Given the description of an element on the screen output the (x, y) to click on. 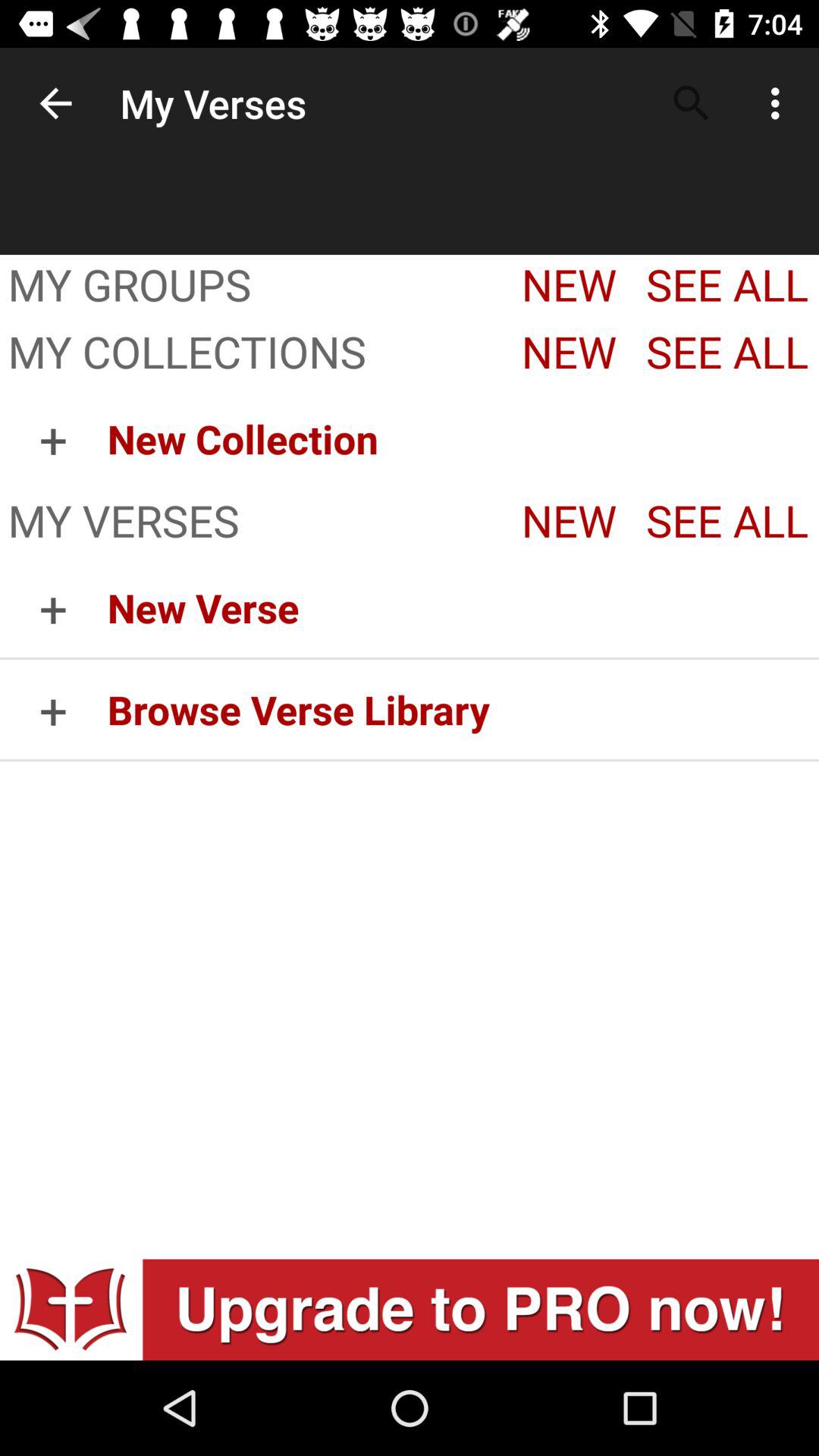
press item next to the  new  app (251, 353)
